Given the description of an element on the screen output the (x, y) to click on. 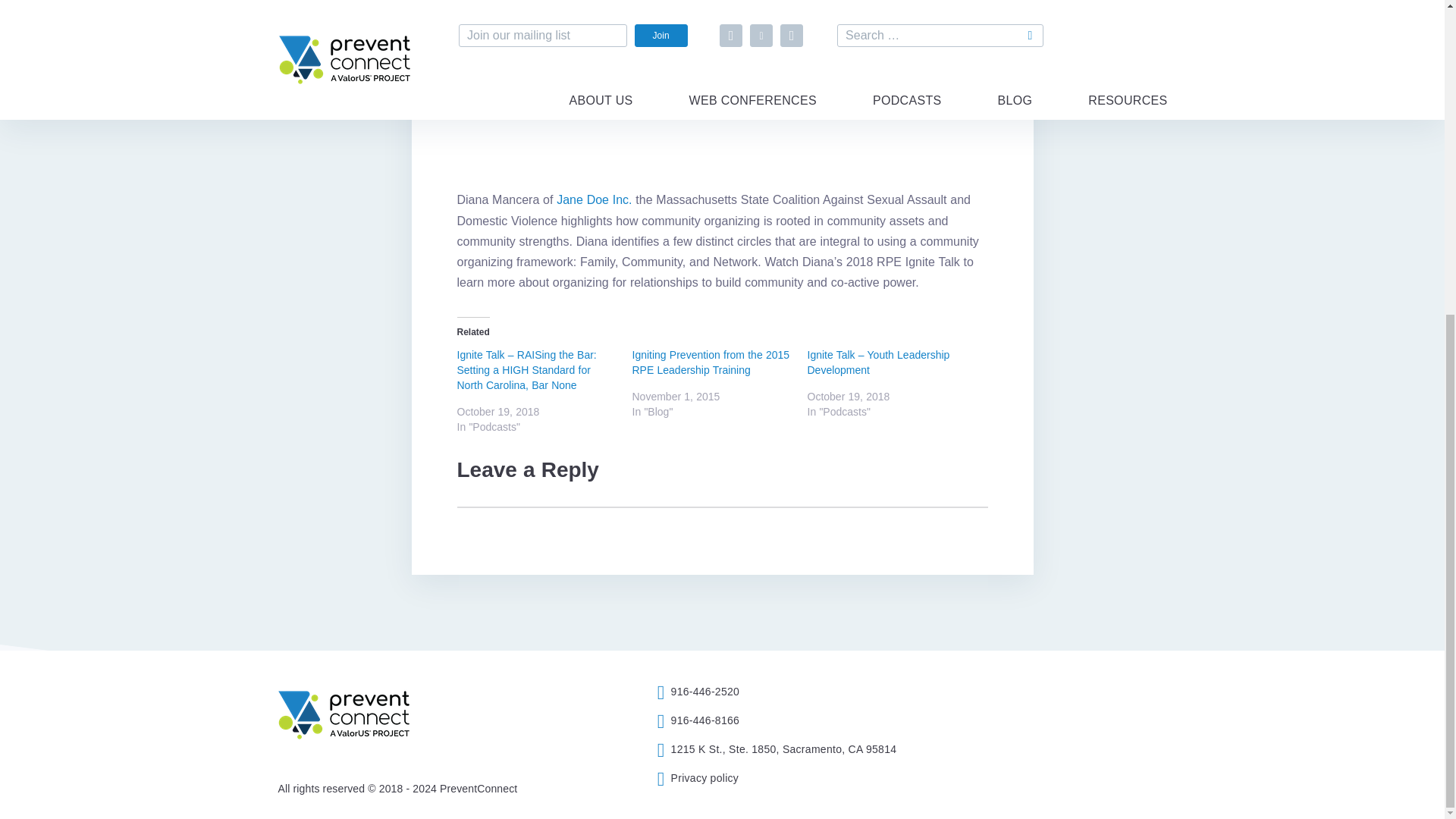
PreventConnect.org (402, 718)
916-446-2520 (802, 692)
Jane Doe Inc. (593, 199)
Igniting Prevention from the 2015 RPE Leadership Training (710, 361)
